Given the description of an element on the screen output the (x, y) to click on. 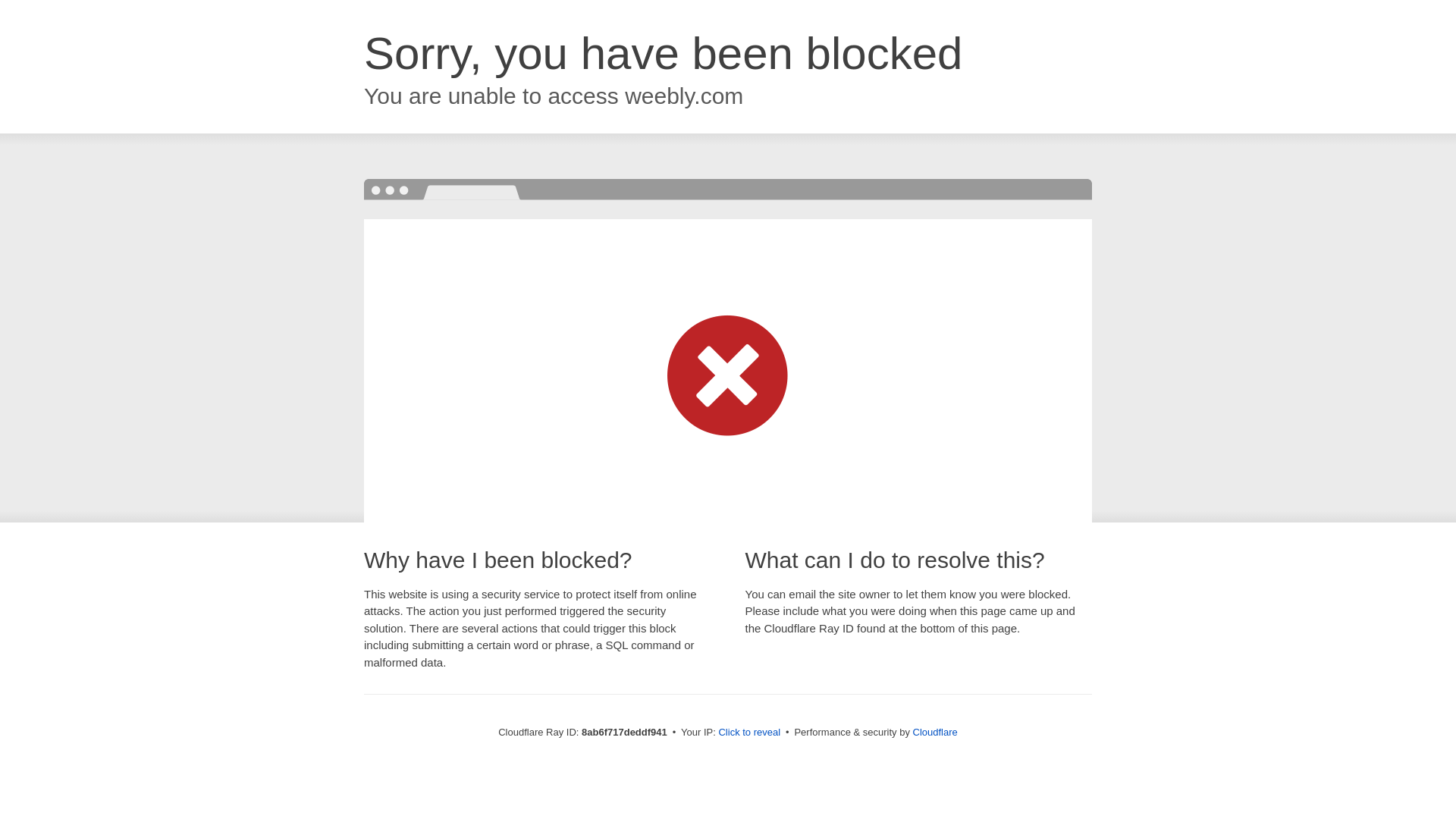
Click to reveal (748, 732)
Cloudflare (935, 731)
